Given the description of an element on the screen output the (x, y) to click on. 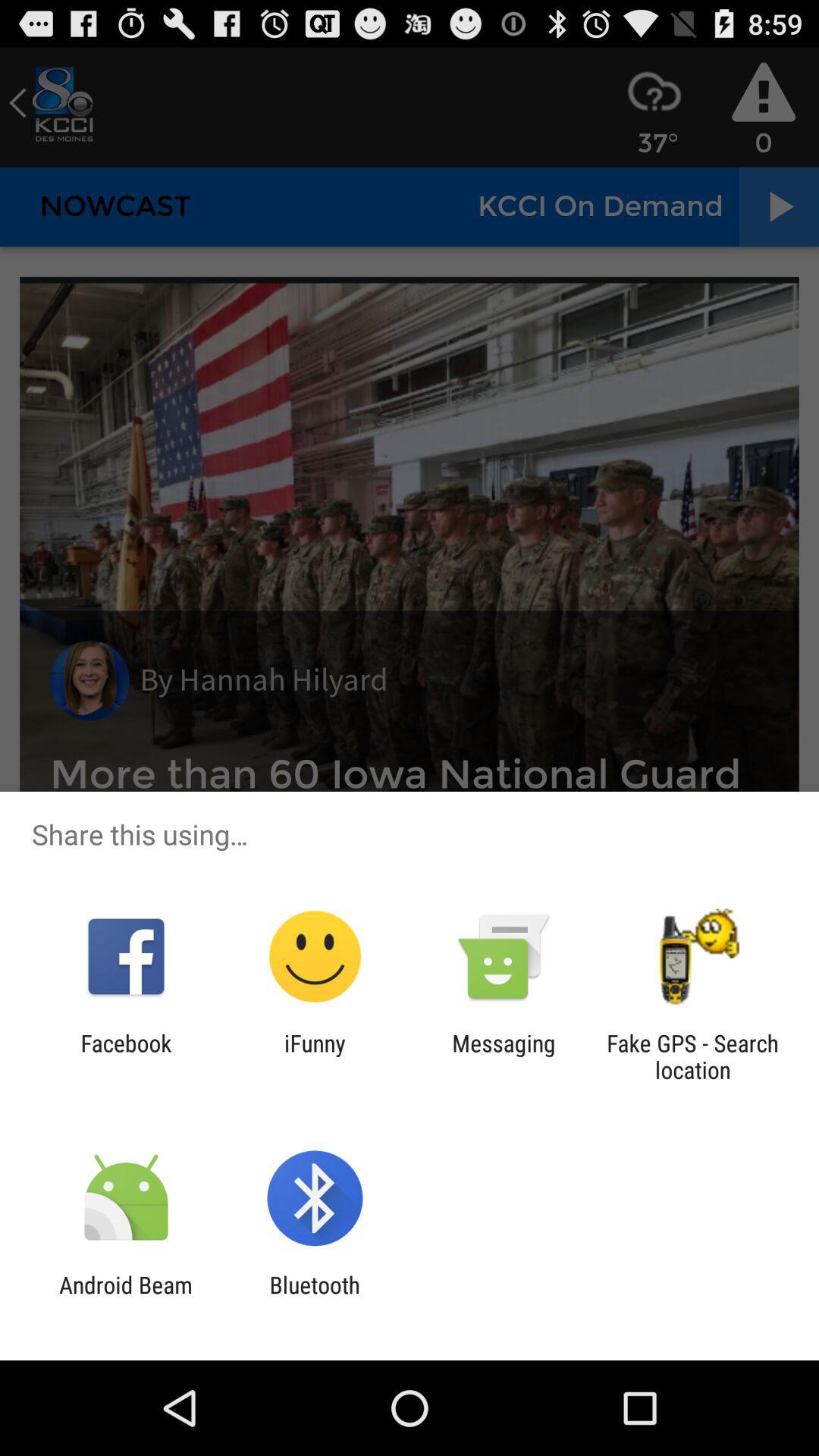
swipe until android beam item (125, 1298)
